Given the description of an element on the screen output the (x, y) to click on. 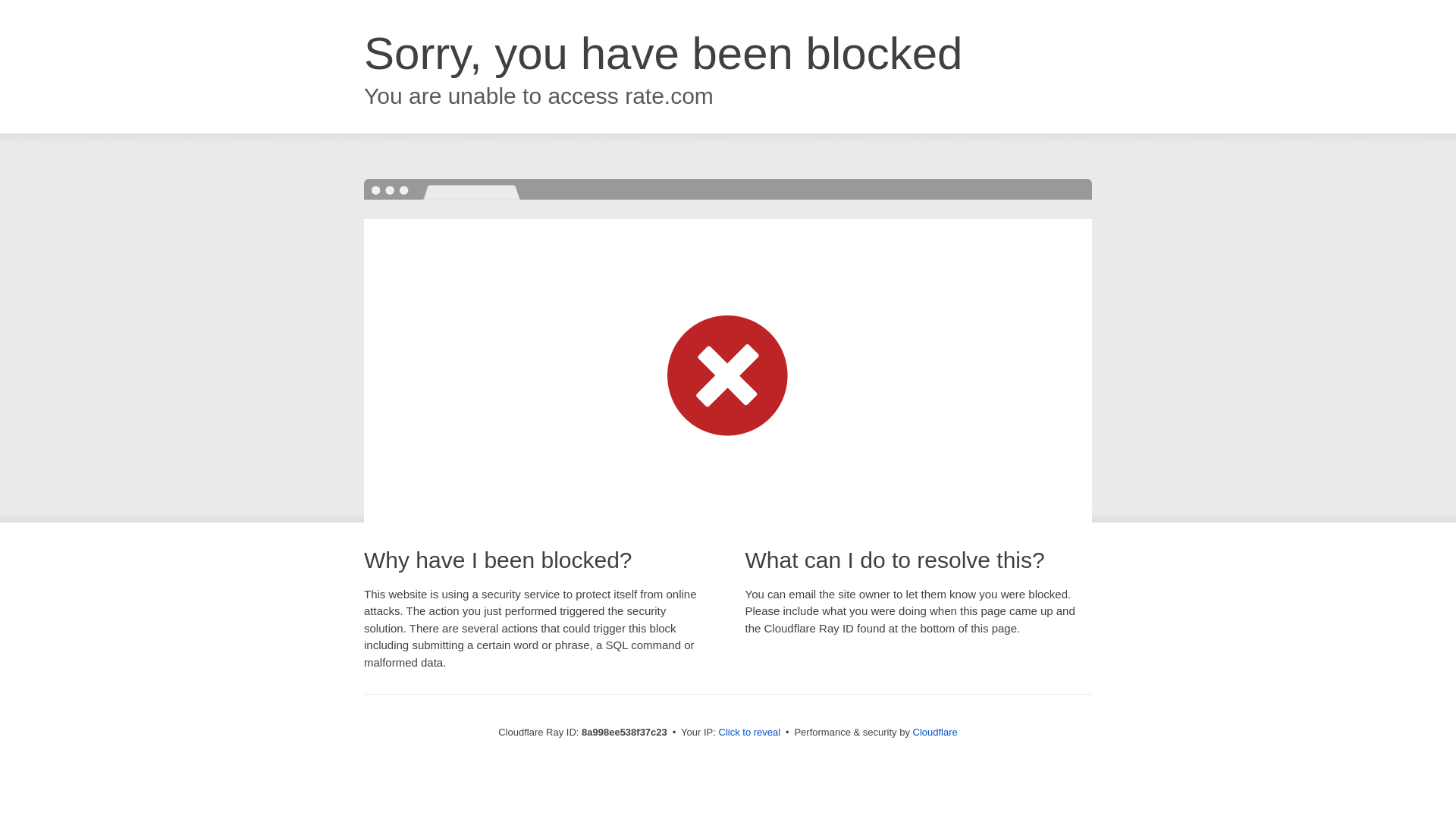
Cloudflare (935, 731)
Click to reveal (749, 732)
